Given the description of an element on the screen output the (x, y) to click on. 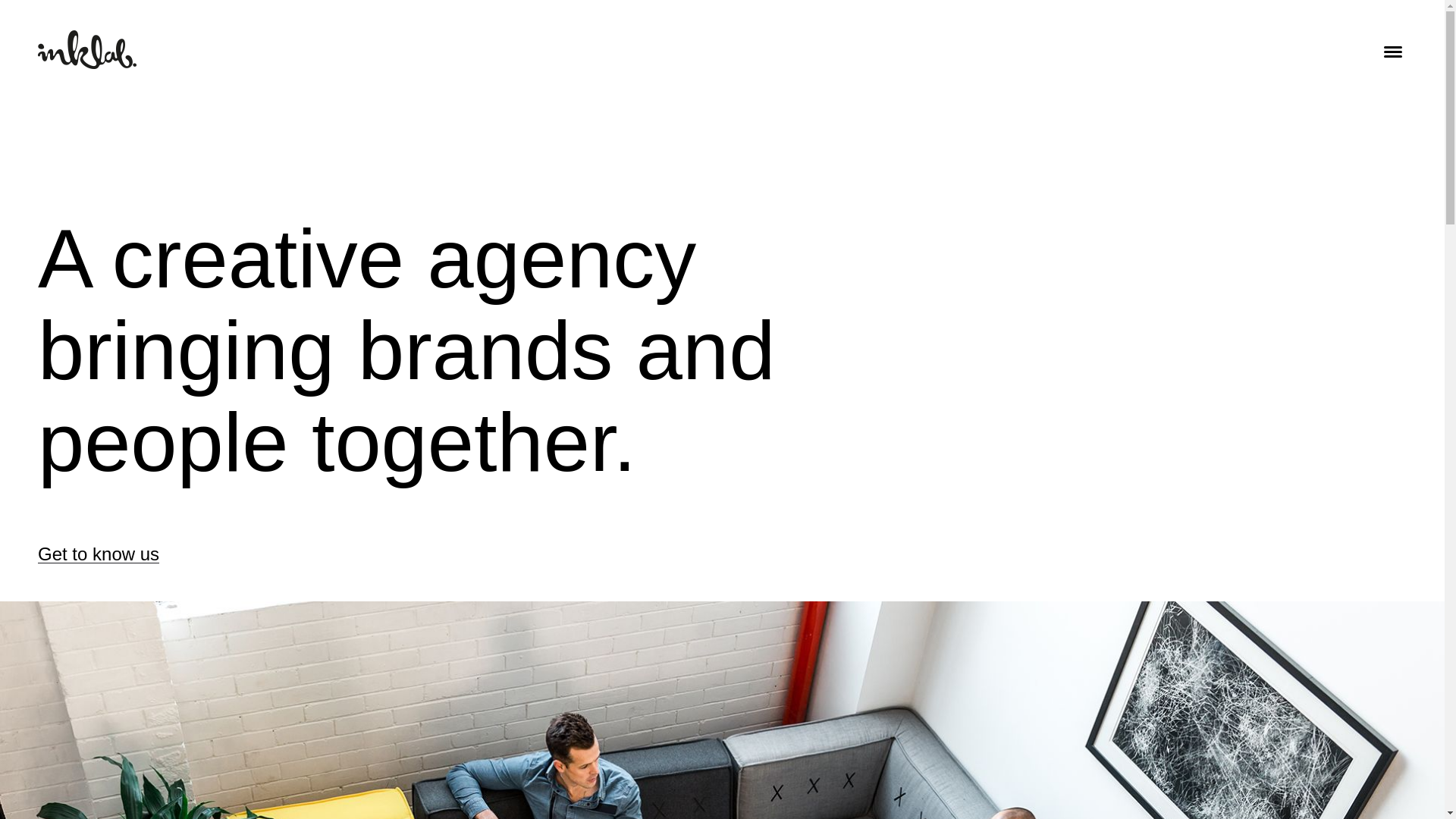
Get to know us Element type: text (98, 554)
